Given the description of an element on the screen output the (x, y) to click on. 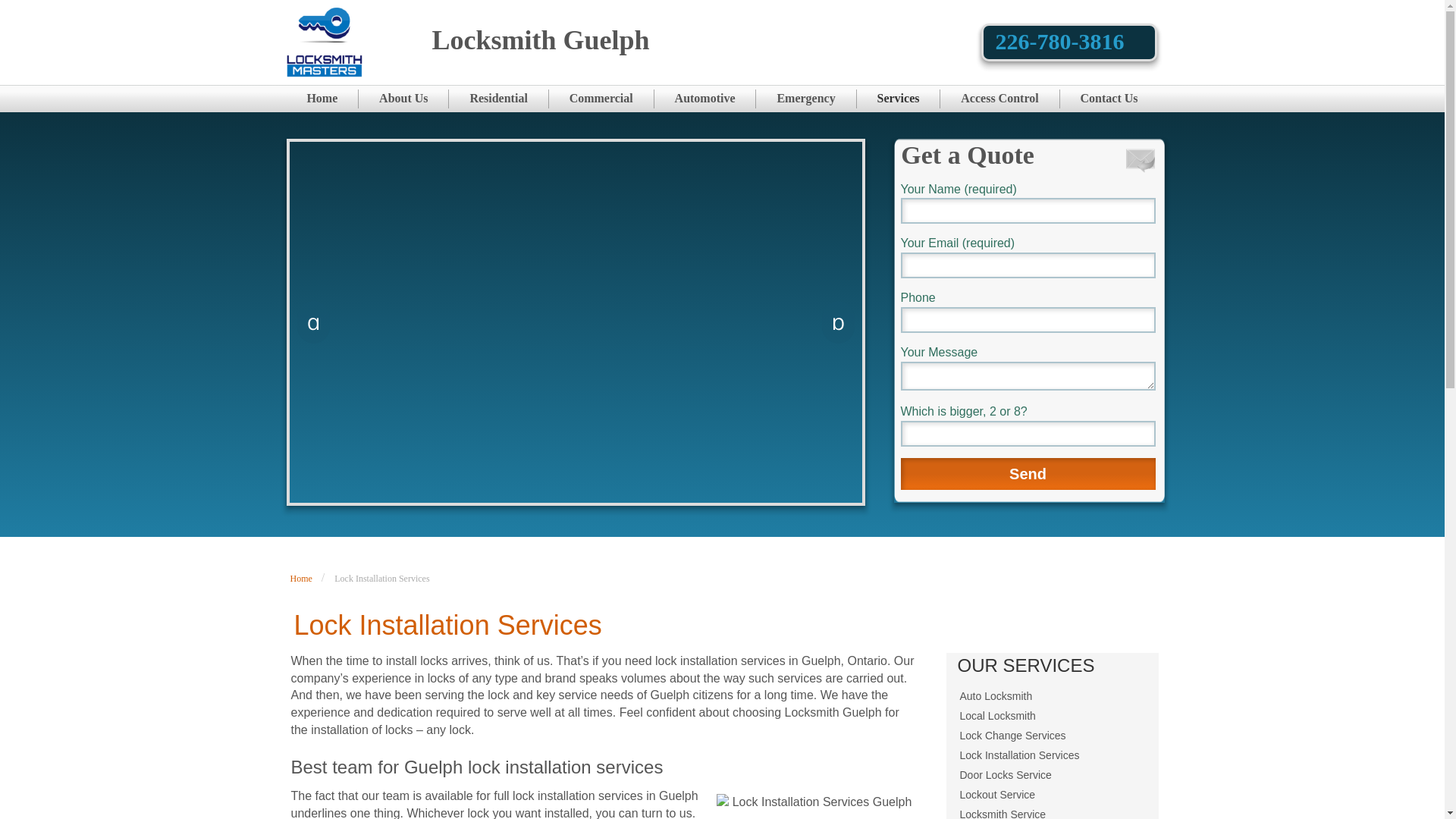
Residential (498, 98)
About Us (403, 98)
Commercial (600, 98)
Send (1028, 473)
Access Control (999, 98)
226-780-3816 (1059, 41)
Contact Us (1108, 98)
Automotive (705, 98)
Home (322, 98)
Emergency (805, 98)
